Given the description of an element on the screen output the (x, y) to click on. 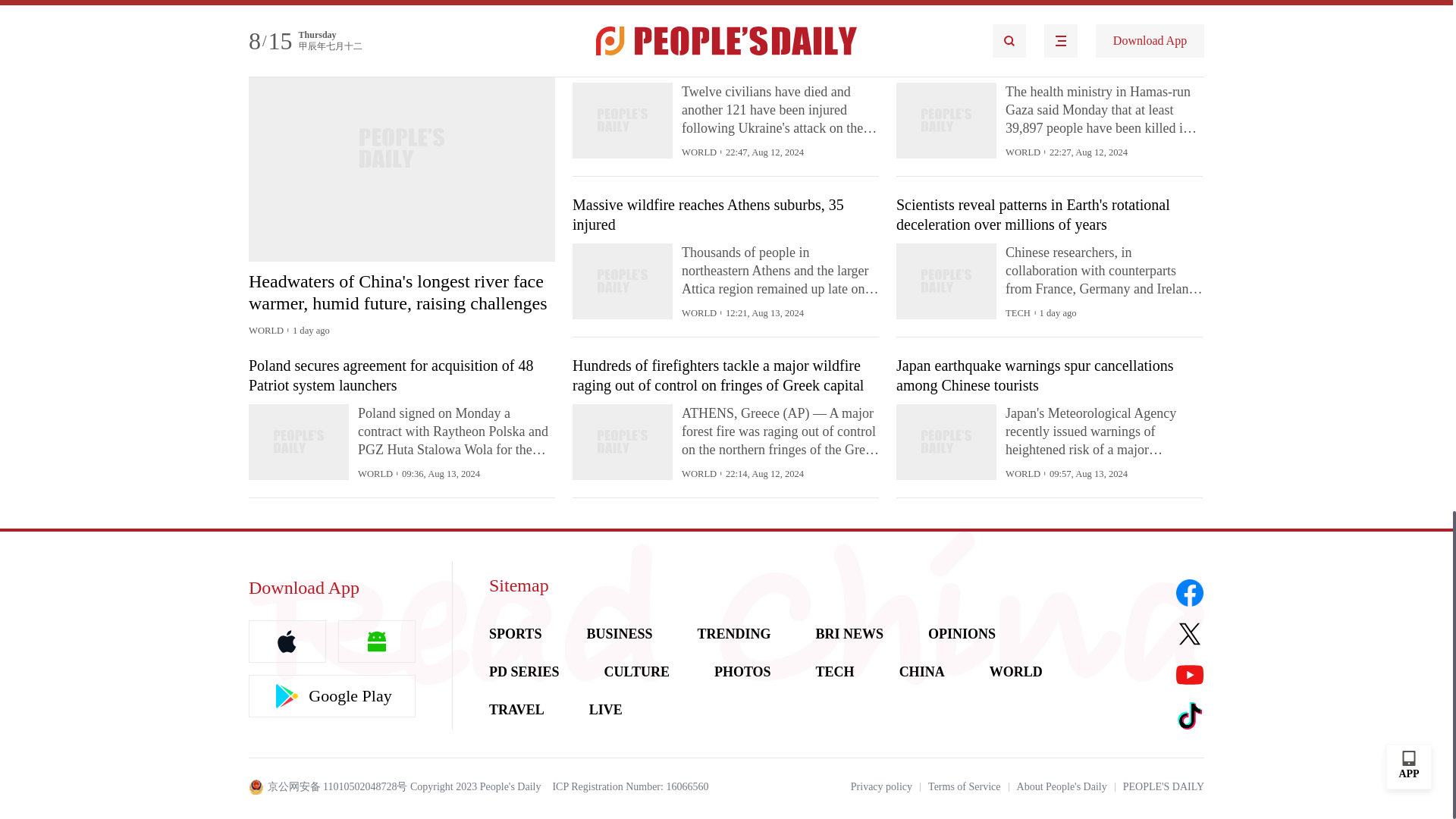
ICP Registration Number: 16066560 (629, 786)
Privacy policy (881, 787)
PEOPLE'S DAILY (1163, 787)
Google Play (331, 695)
Terms of Service (964, 787)
About People's Daily (1061, 787)
